Given the description of an element on the screen output the (x, y) to click on. 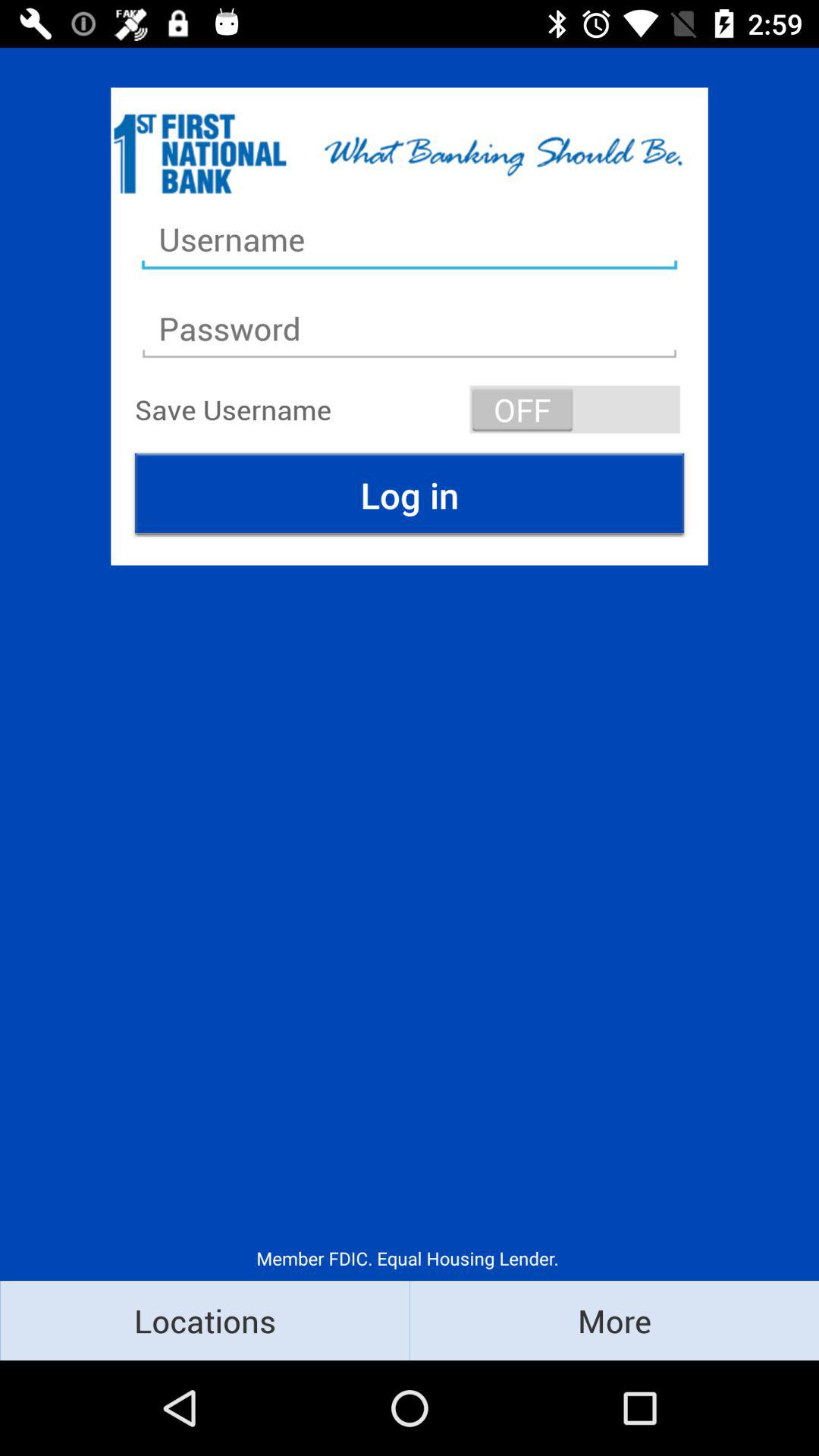
turn off icon below member fdic equal icon (614, 1320)
